Given the description of an element on the screen output the (x, y) to click on. 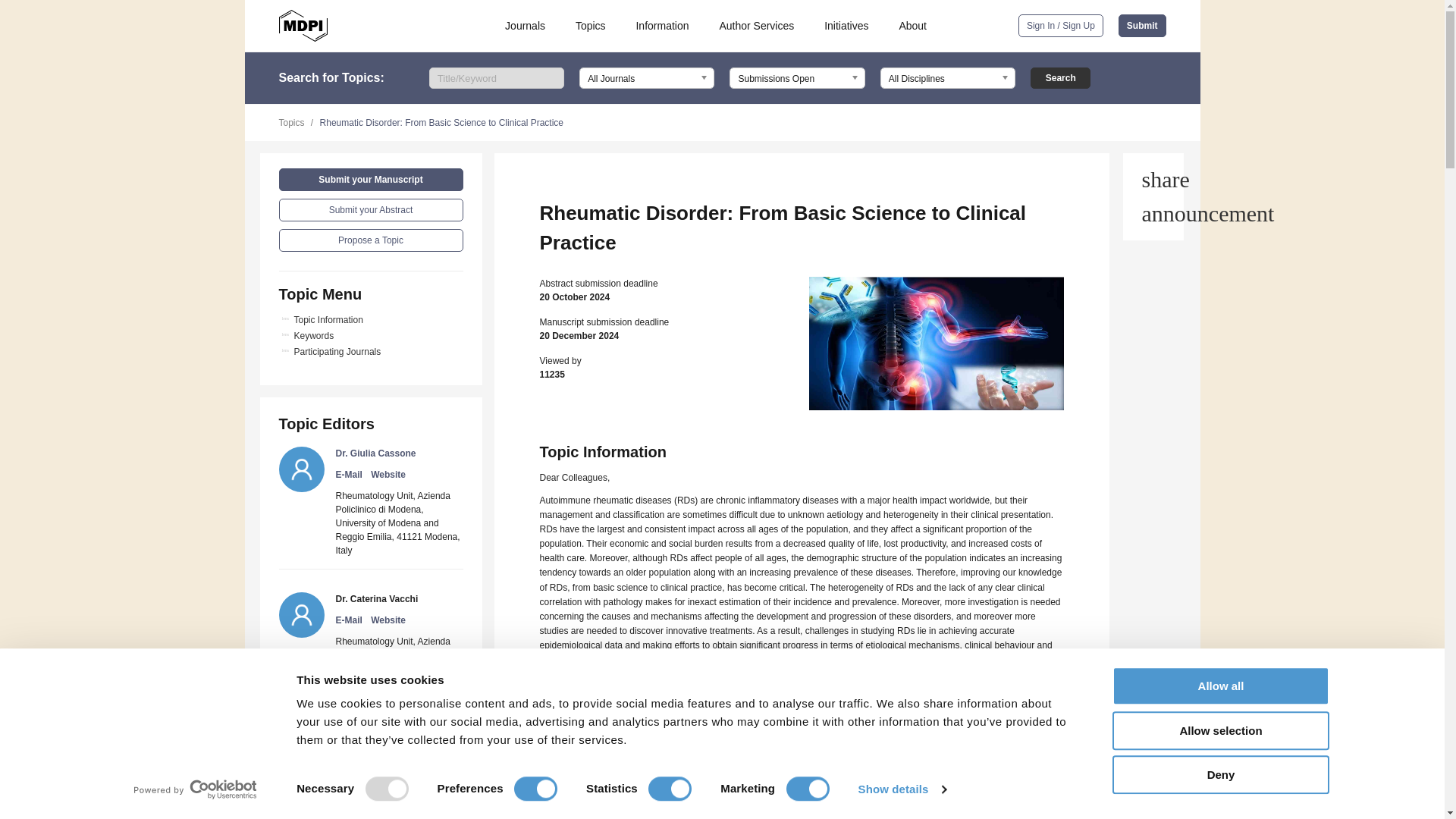
Show details (900, 789)
Search (1060, 77)
Search (1060, 77)
